Given the description of an element on the screen output the (x, y) to click on. 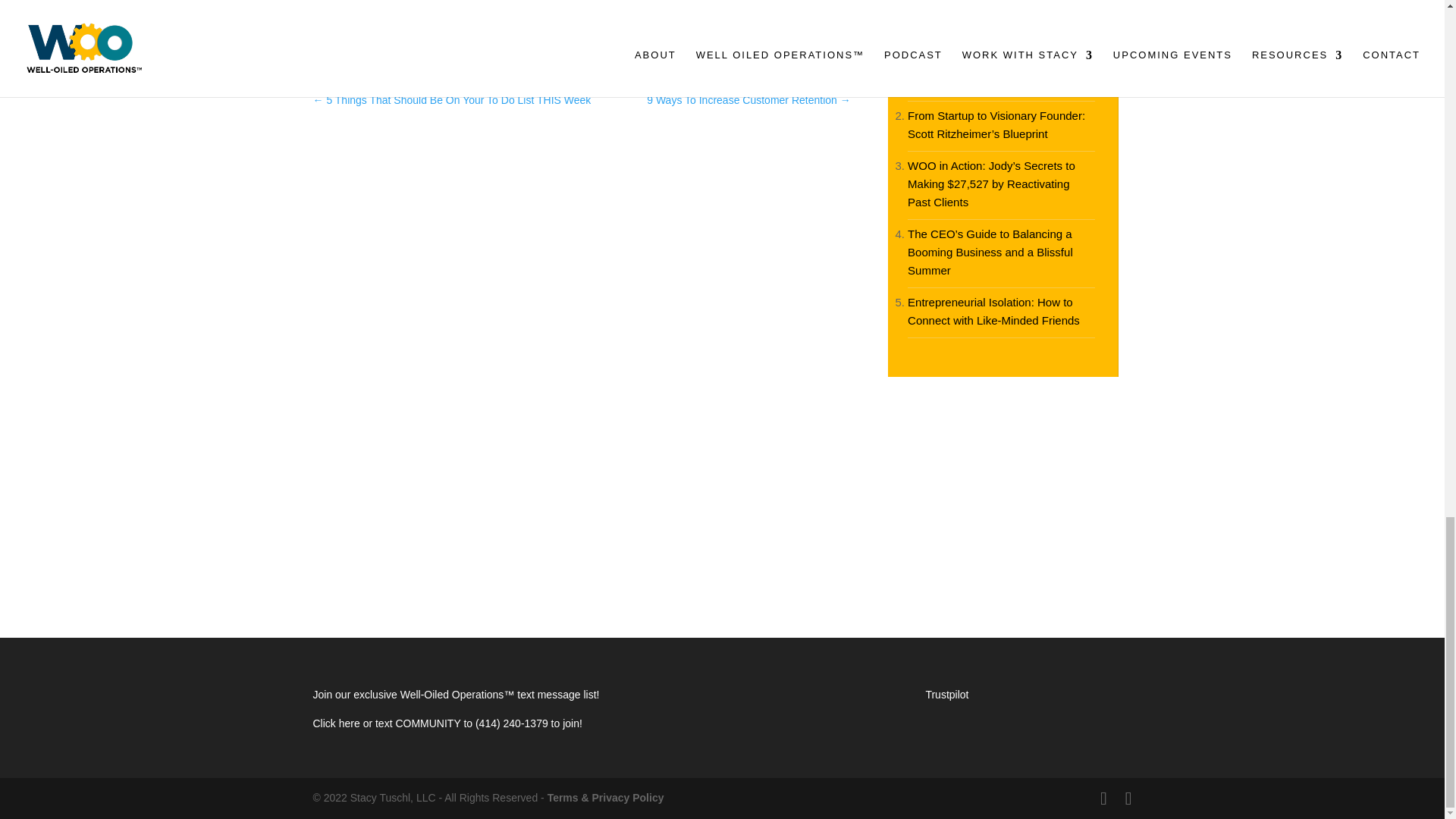
Click here (337, 723)
Trustpilot (946, 694)
